Given the description of an element on the screen output the (x, y) to click on. 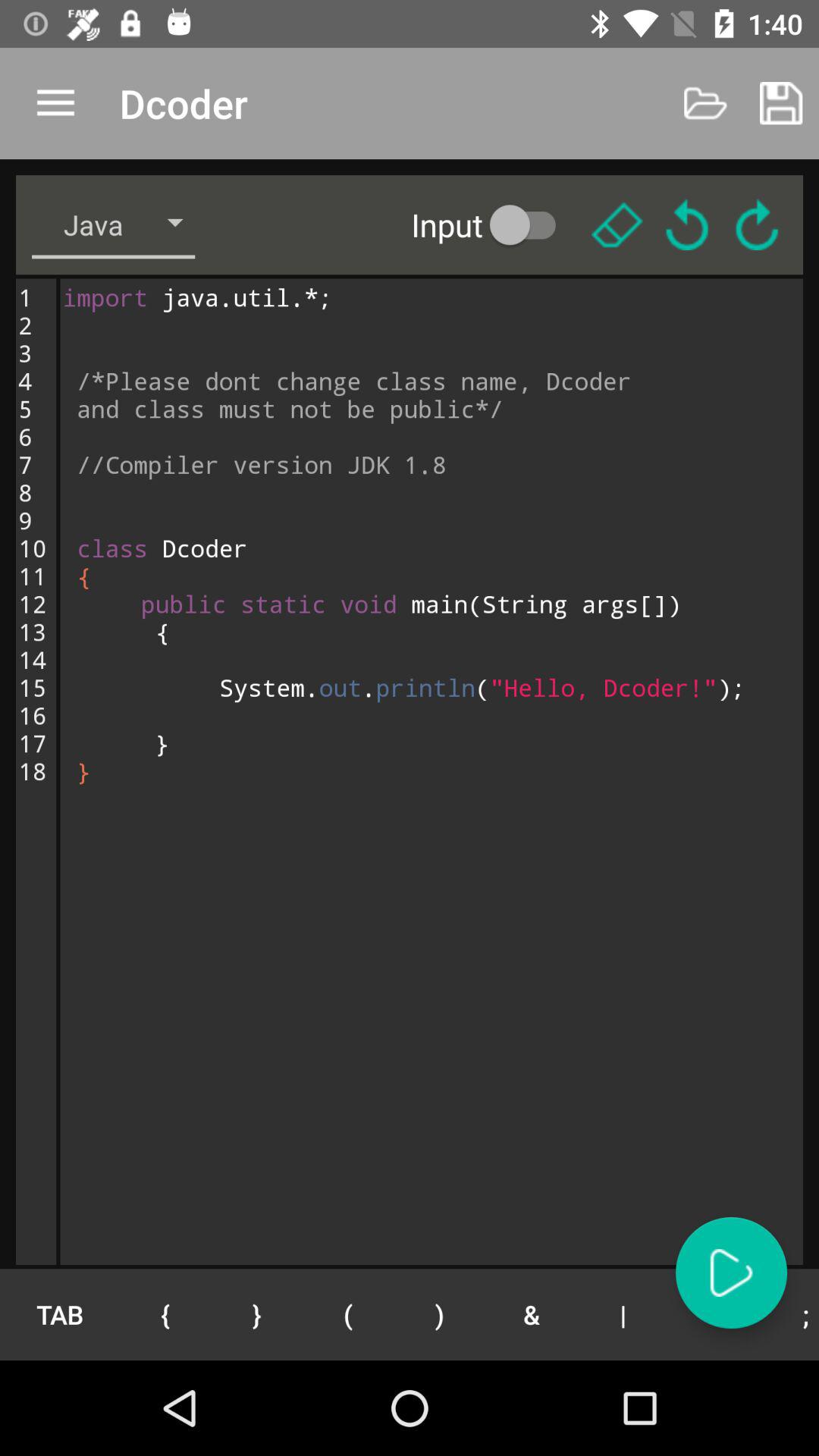
launch the icon next to the ; icon (714, 1314)
